Given the description of an element on the screen output the (x, y) to click on. 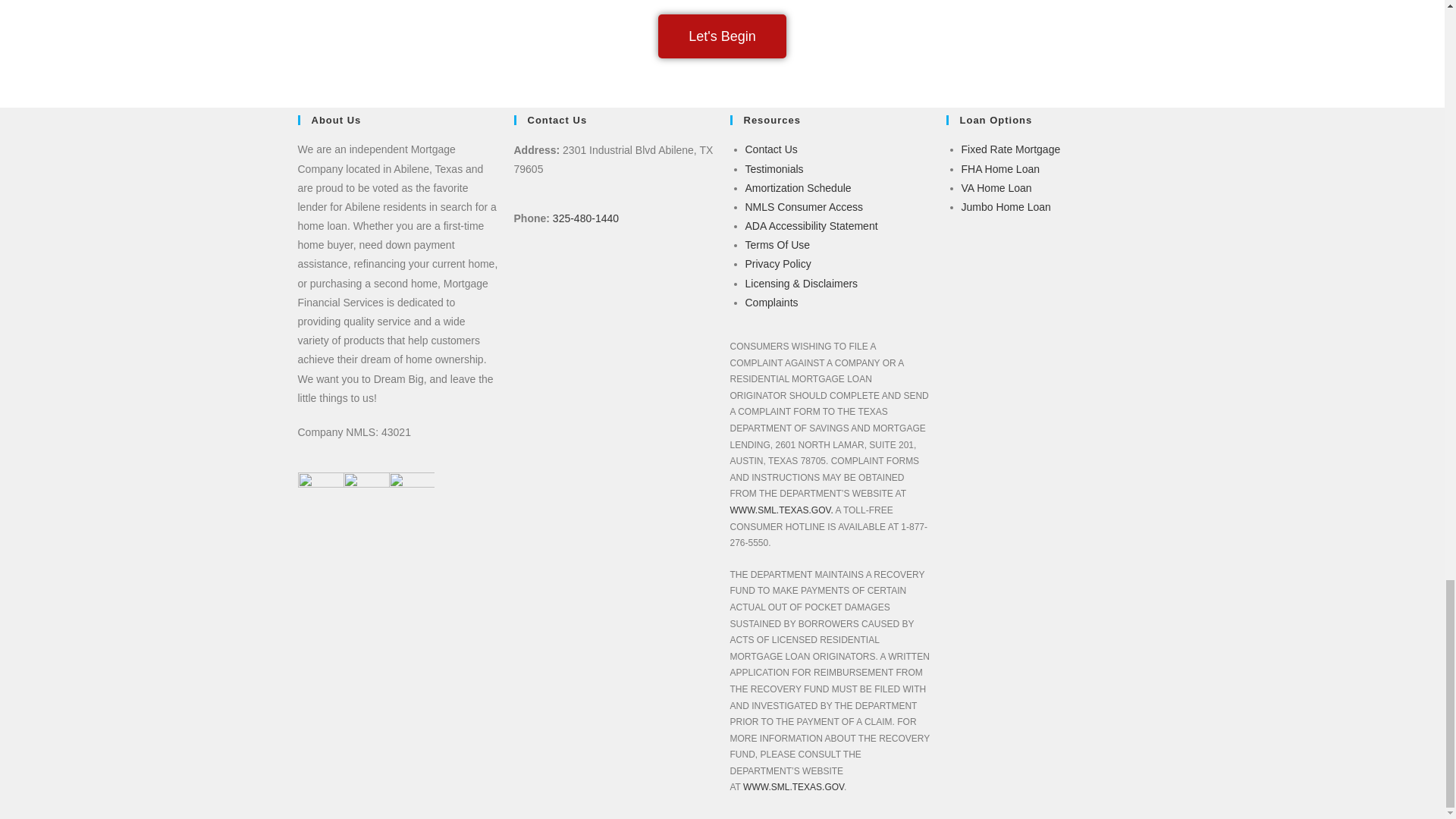
Jumbo Home Loan (1005, 206)
Contact Us (770, 149)
VA Home Loan (996, 187)
ADA Accessibility Statement (810, 225)
NMLS Consumer Access (803, 206)
Mortgage Calculator (797, 187)
FHA Home Loan (1000, 168)
Fixed Rate Mortgage (1010, 149)
Testimonials (773, 168)
